Given the description of an element on the screen output the (x, y) to click on. 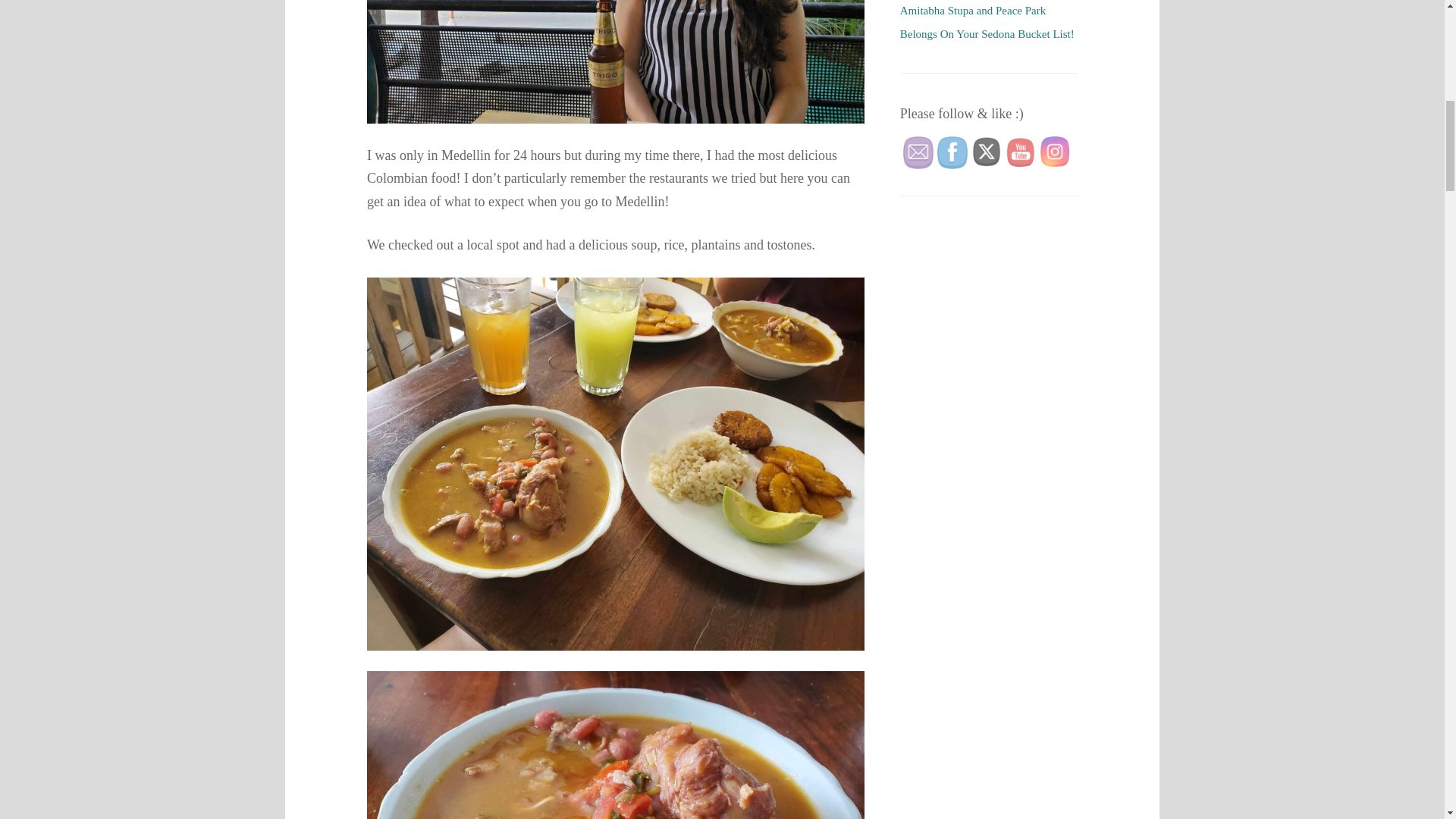
YouTube (1020, 151)
Instagram (1054, 151)
Facebook (952, 152)
Follow by Email (917, 152)
Twitter (986, 151)
